Given the description of an element on the screen output the (x, y) to click on. 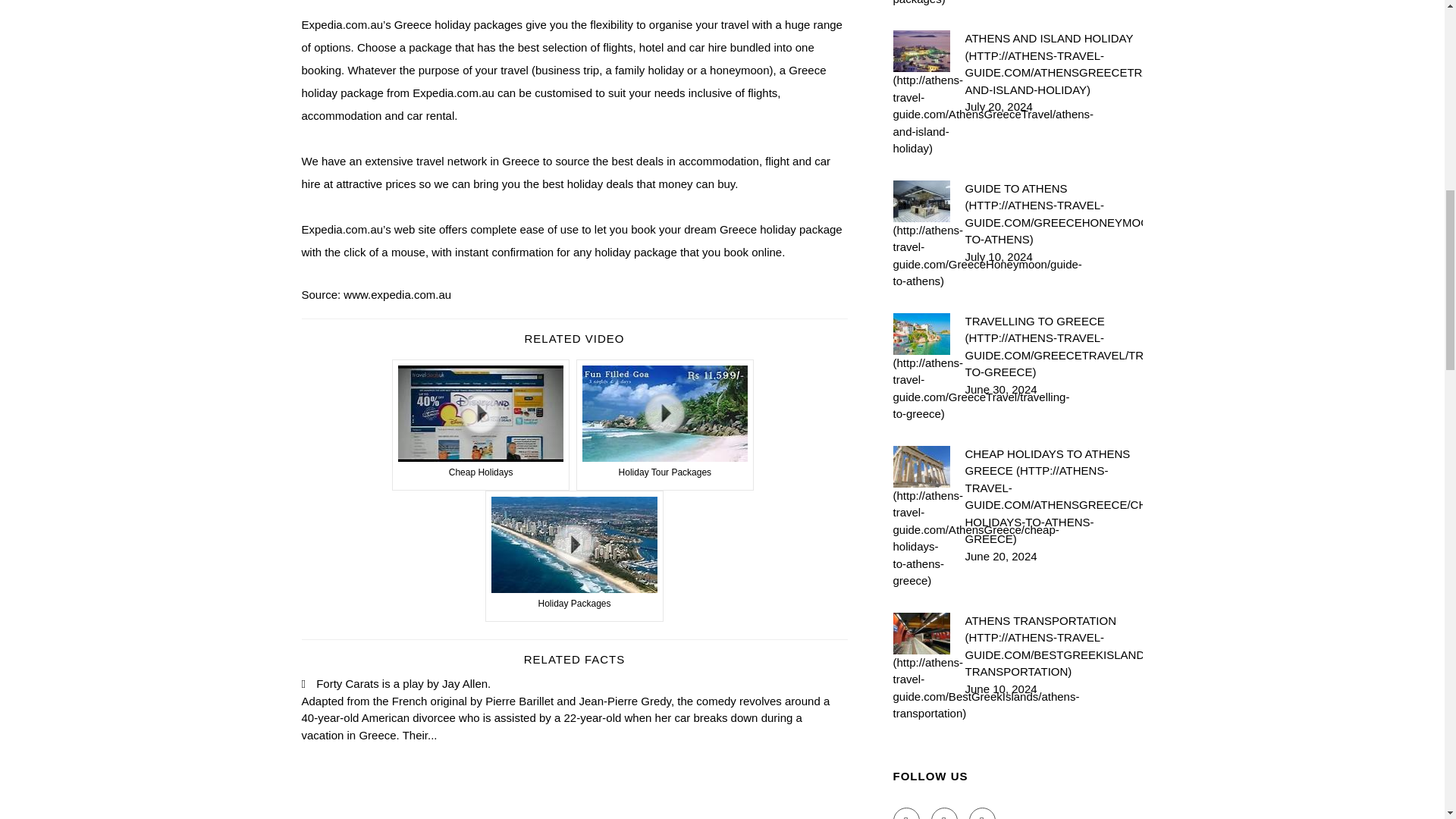
Facebook (906, 813)
Twitter (944, 813)
Google Plus (982, 813)
View this video from YouTube (480, 424)
View this video from YouTube (665, 424)
View this video from YouTube (573, 555)
